Given the description of an element on the screen output the (x, y) to click on. 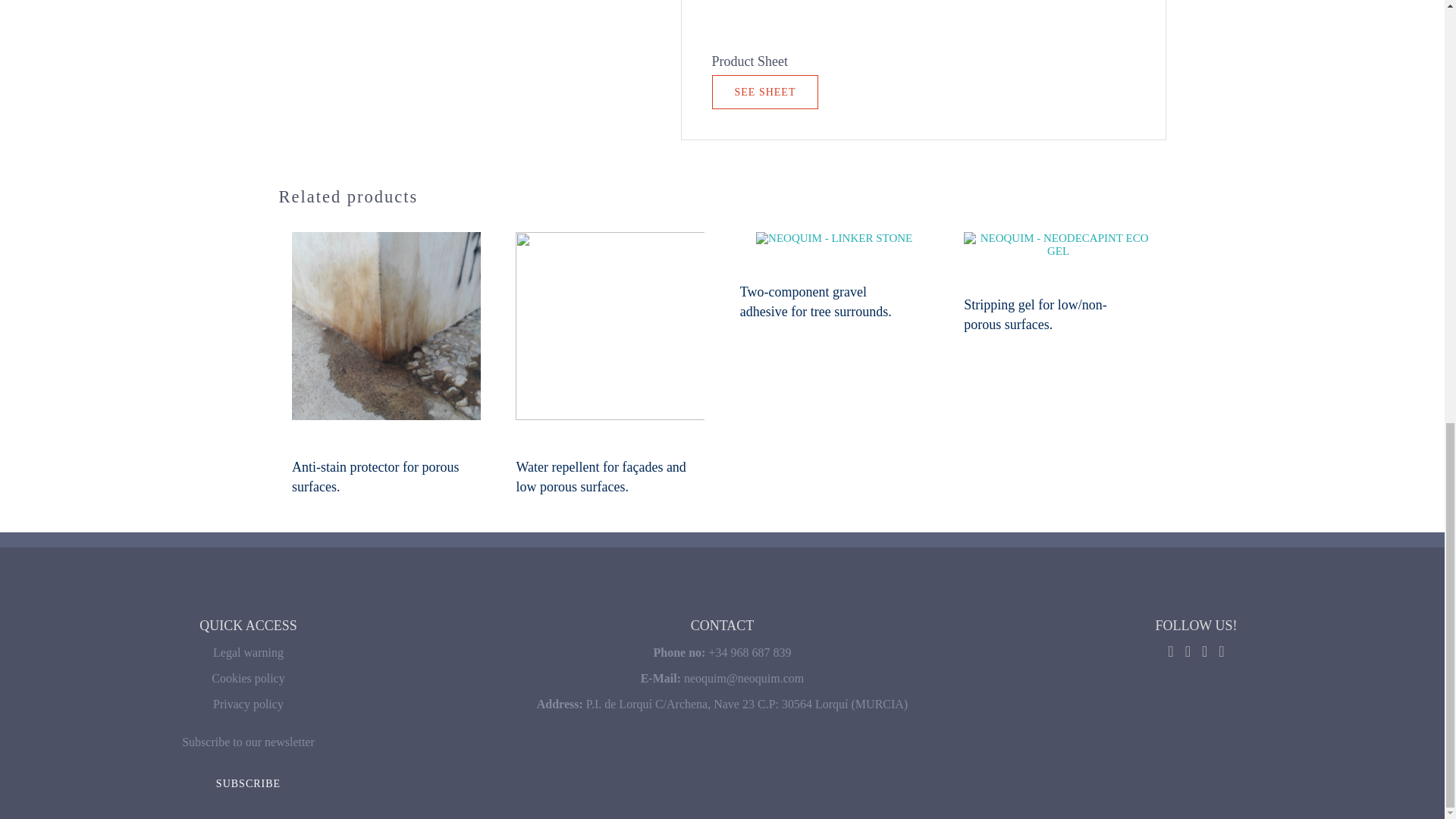
SEE SHEET (764, 91)
